Given the description of an element on the screen output the (x, y) to click on. 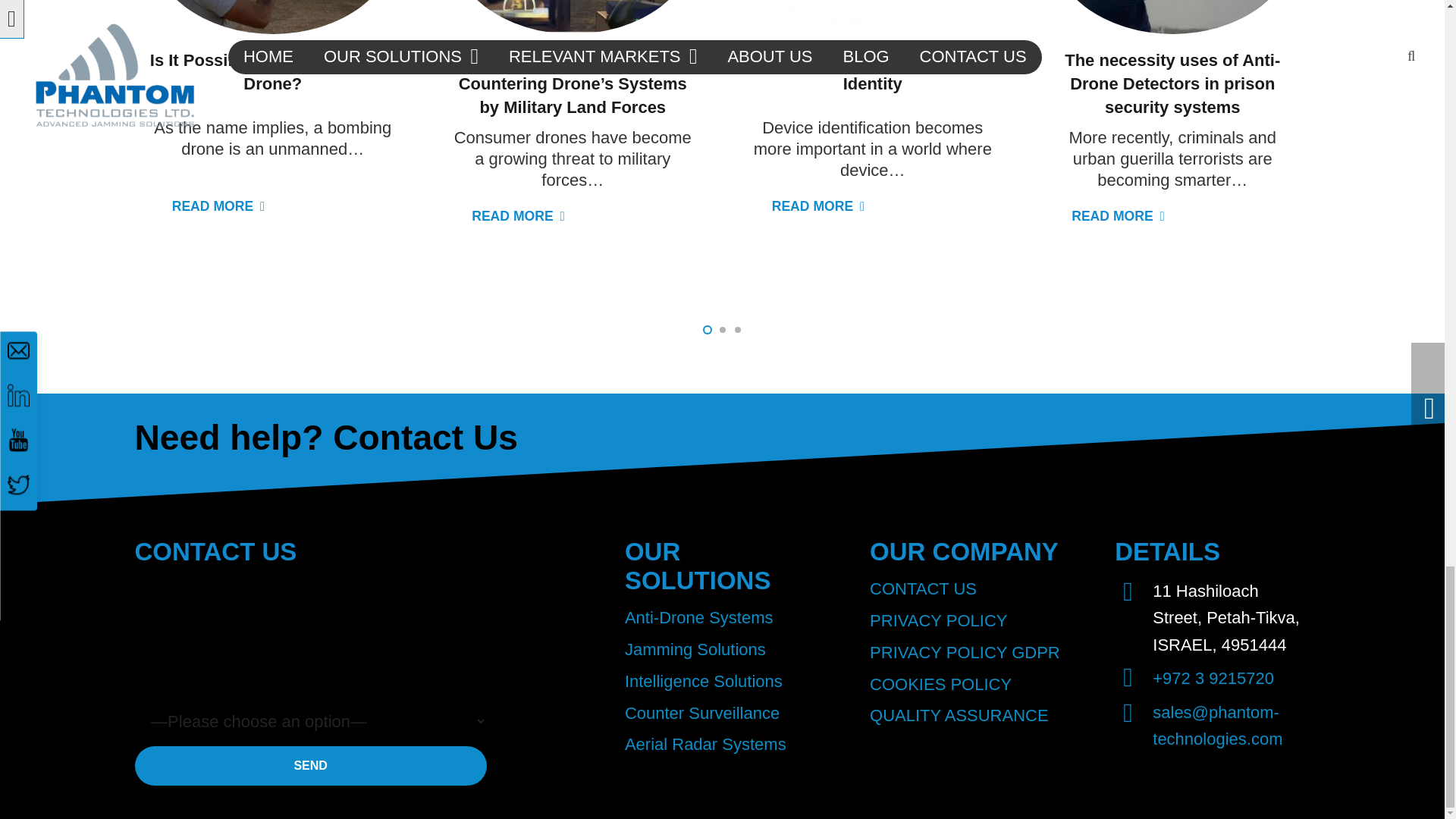
SEND (310, 765)
